Given the description of an element on the screen output the (x, y) to click on. 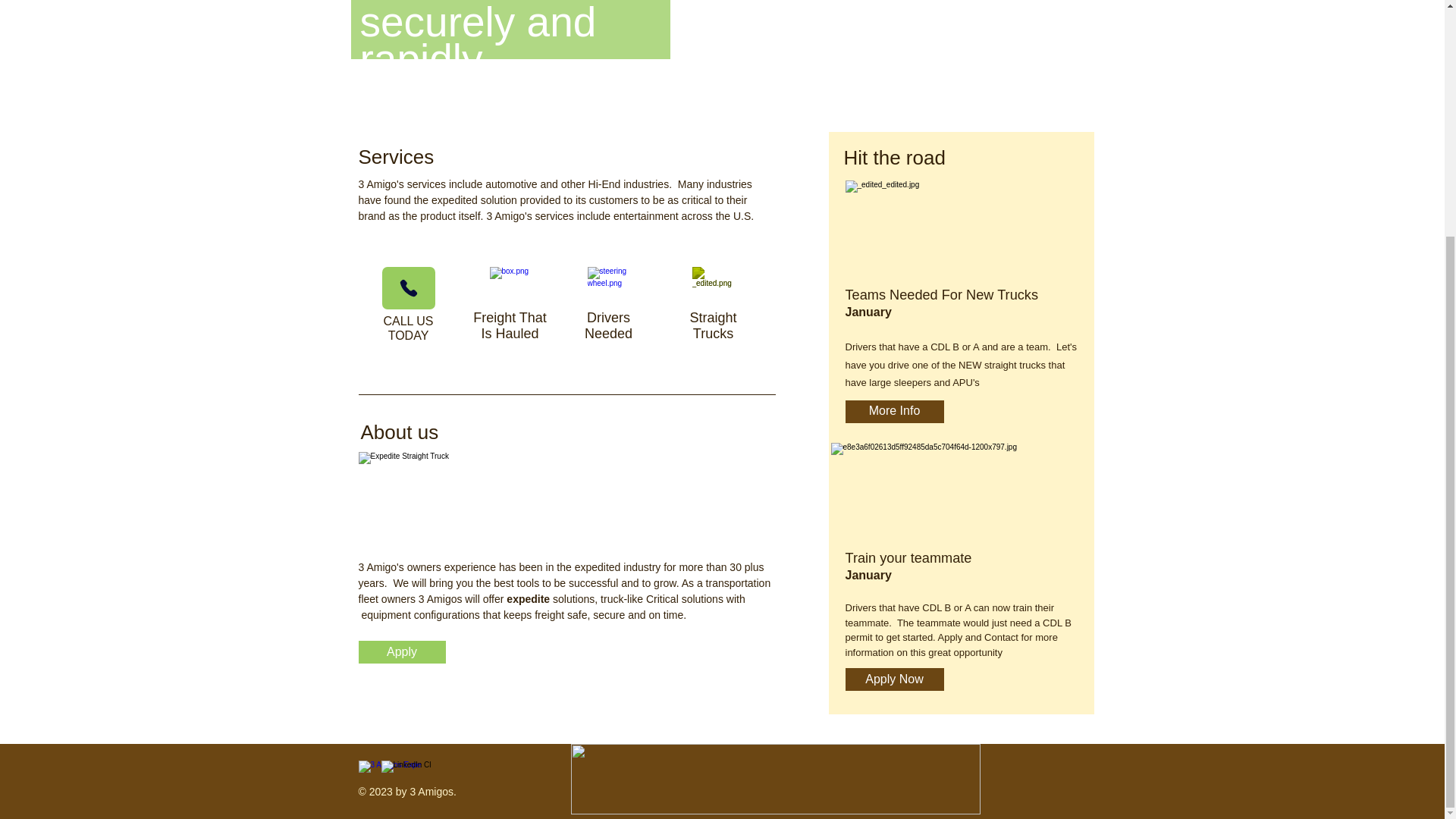
Apply Now (712, 326)
More Info (893, 679)
Apply (407, 328)
